Given the description of an element on the screen output the (x, y) to click on. 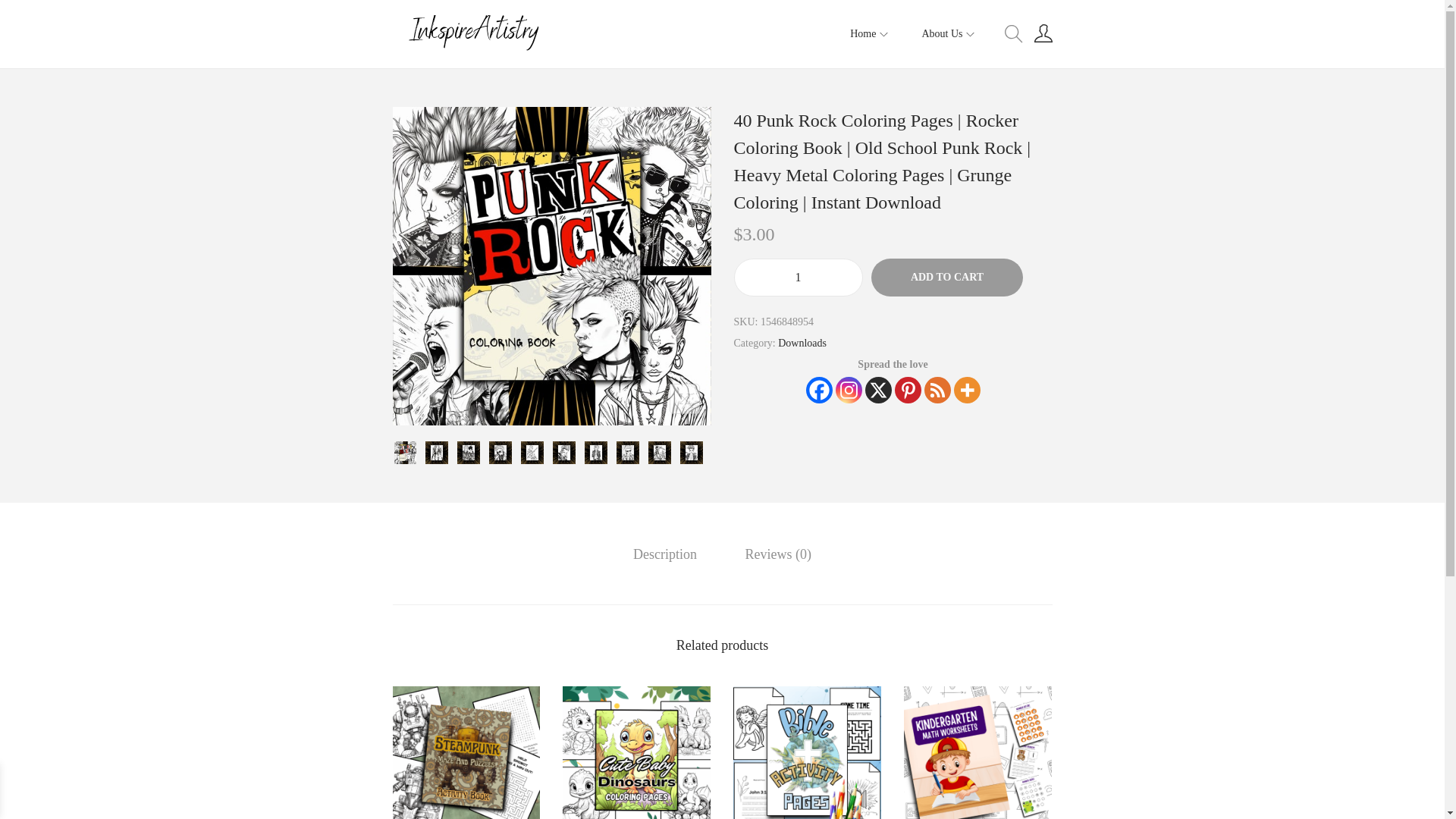
X (877, 389)
RSS Feed (936, 389)
Facebook (818, 389)
More (966, 389)
Pinterest (908, 389)
Instagram (848, 389)
1 (797, 277)
